Given the description of an element on the screen output the (x, y) to click on. 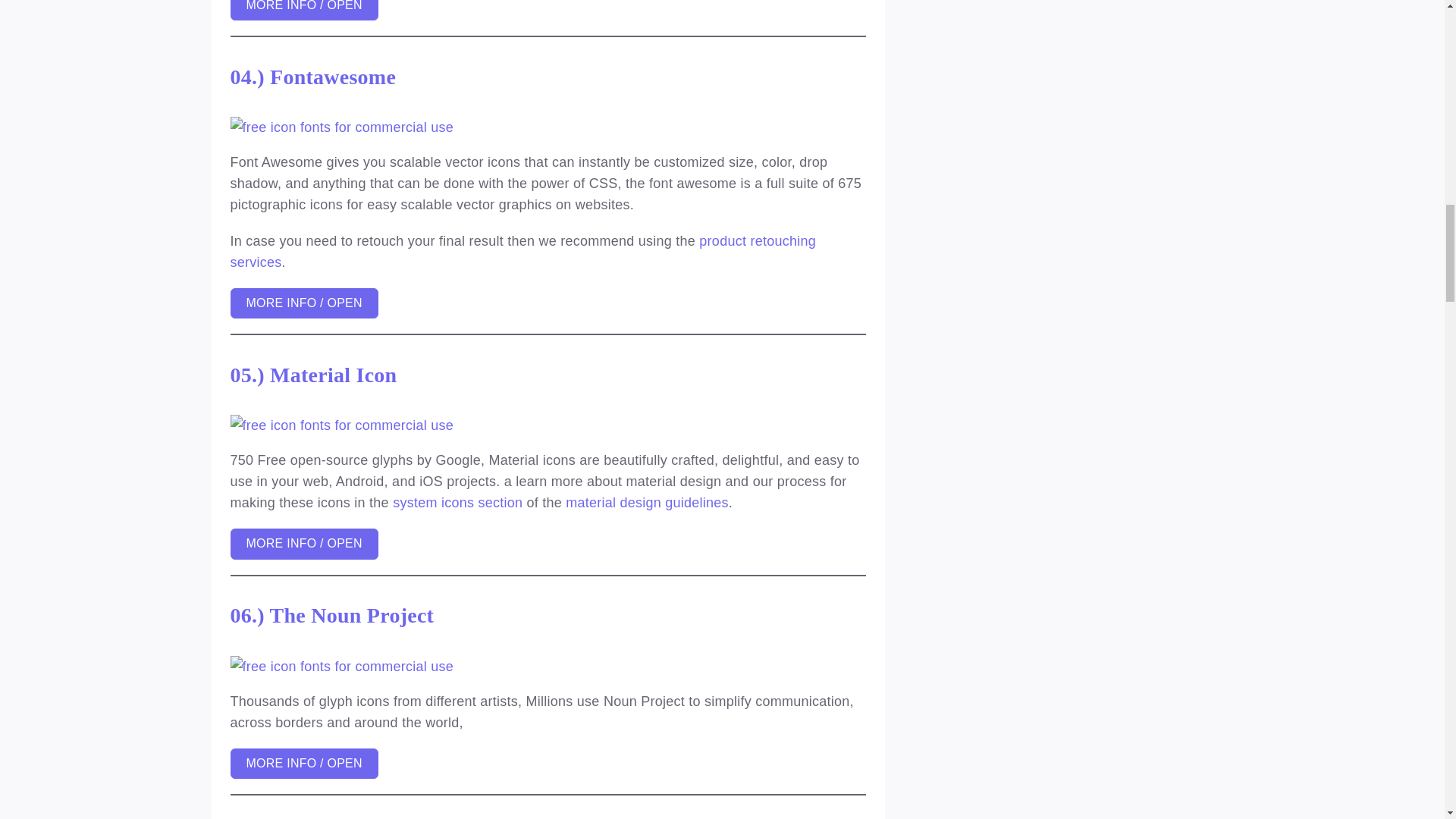
material design guidelines (647, 502)
product retouching services (522, 251)
system icons section (457, 502)
